Given the description of an element on the screen output the (x, y) to click on. 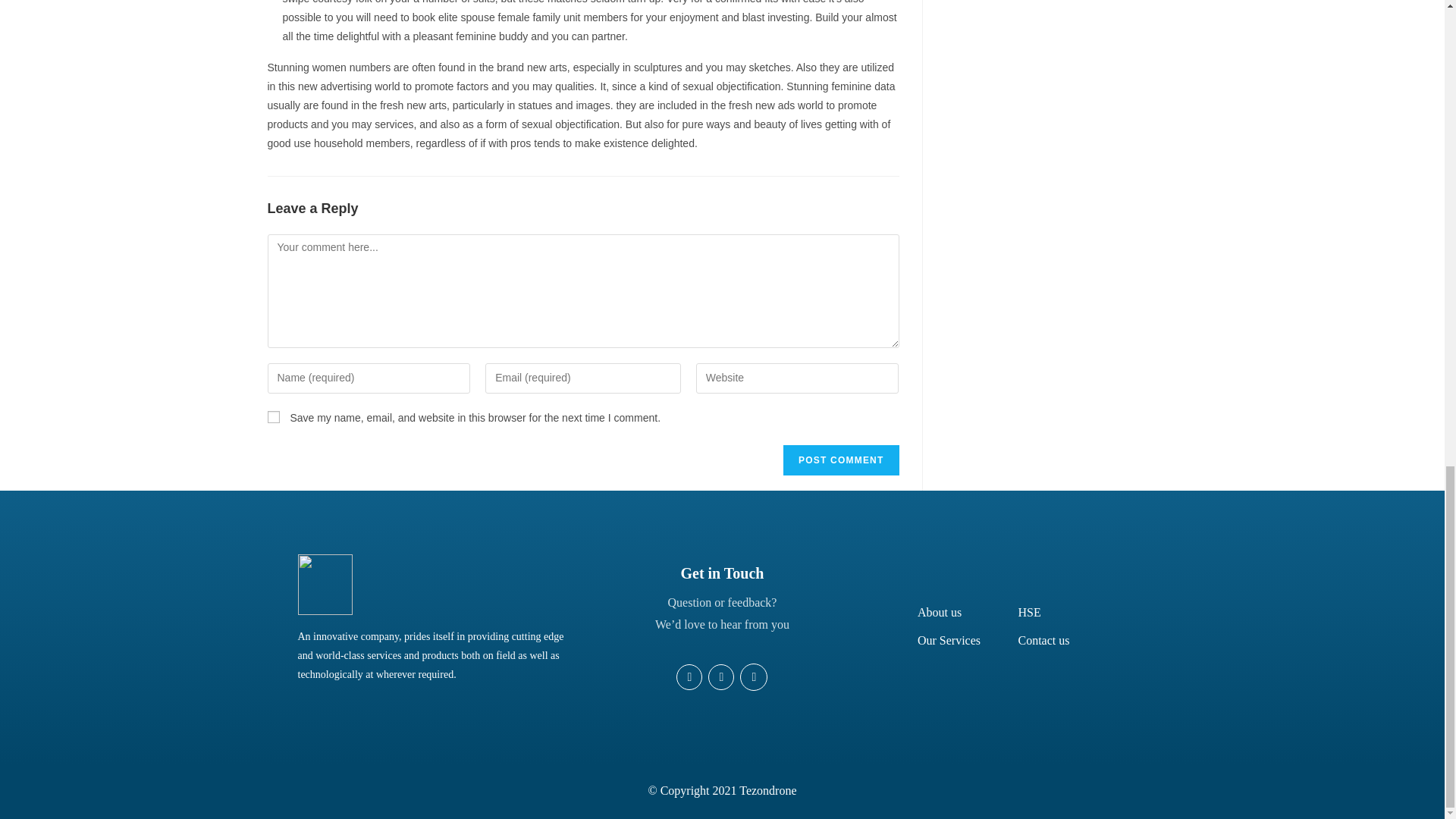
HSE (1029, 612)
Post Comment (840, 460)
About us (938, 612)
yes (272, 417)
Our Services (948, 640)
Contact us (1042, 640)
Post Comment (840, 460)
